Given the description of an element on the screen output the (x, y) to click on. 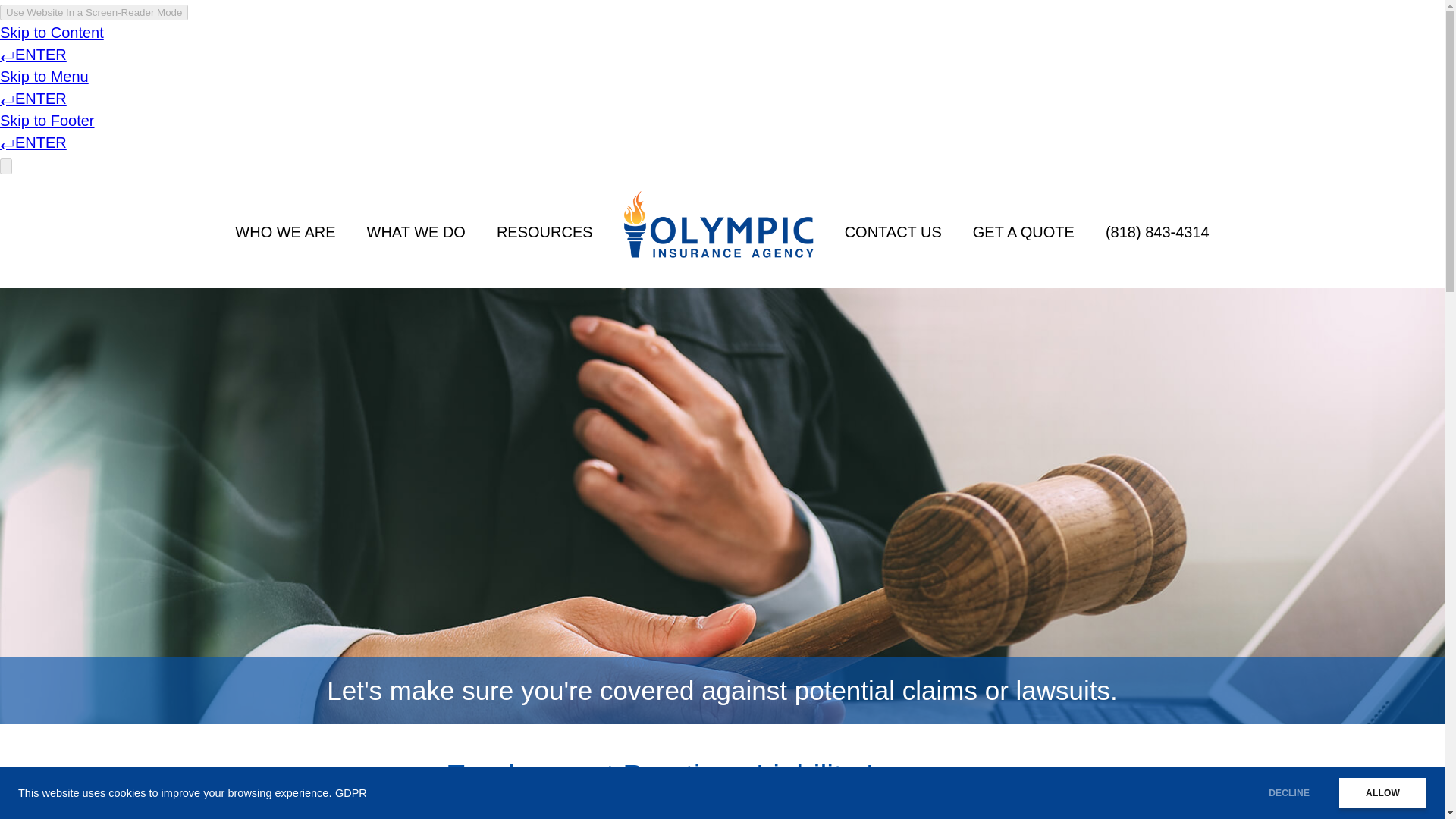
DECLINE (1288, 793)
WHO WE ARE (284, 231)
CONTACT US (892, 231)
WHAT WE DO (416, 231)
GET A QUOTE (1023, 231)
GDPR (350, 793)
RESOURCES (544, 231)
ALLOW (1382, 793)
